Given the description of an element on the screen output the (x, y) to click on. 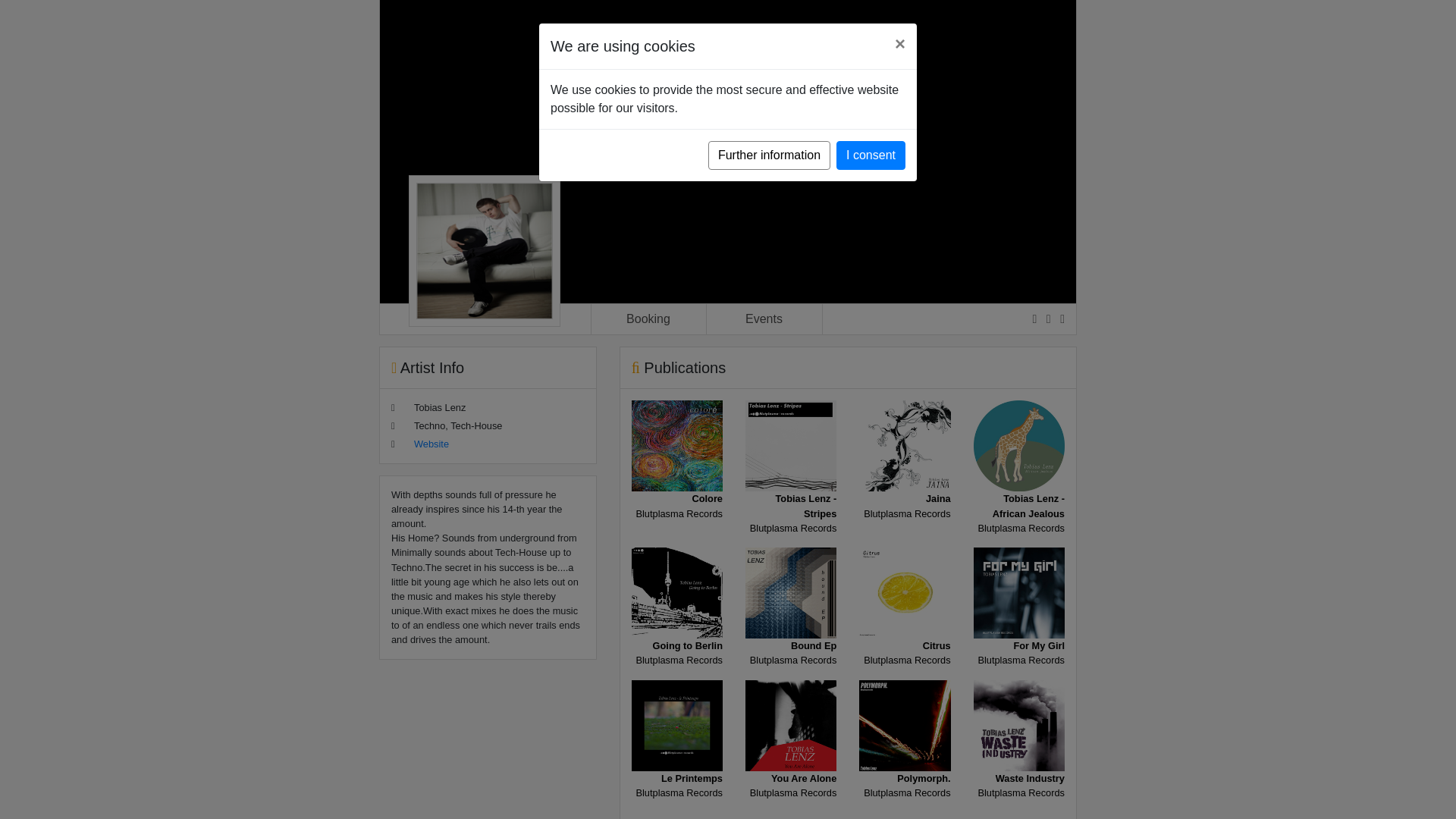
Website (904, 626)
Booking (904, 759)
